Given the description of an element on the screen output the (x, y) to click on. 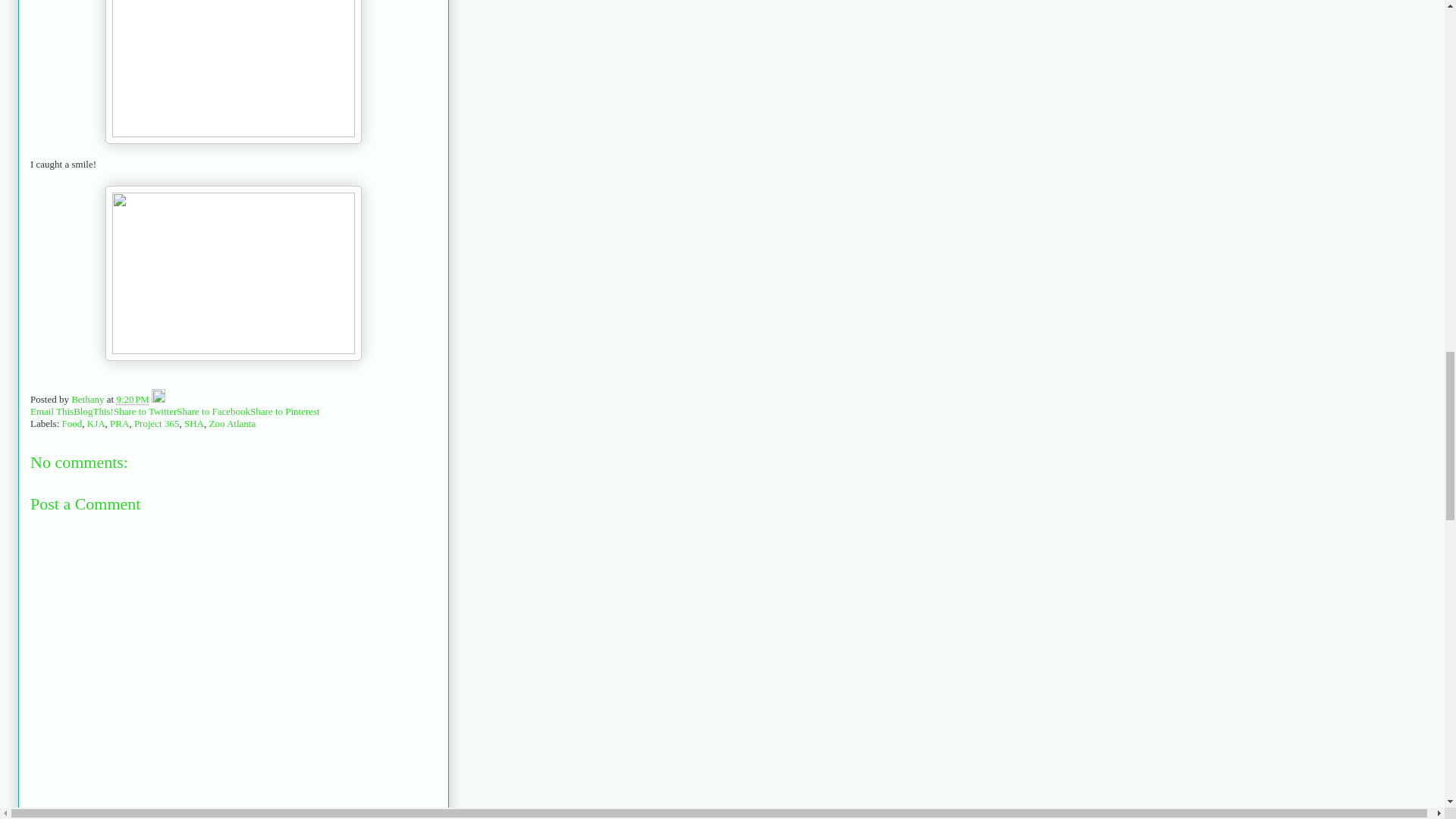
SHA (193, 423)
Share to Facebook (213, 410)
Project 365 (156, 423)
Edit Post (158, 398)
Share to Twitter (144, 410)
PRA (119, 423)
Email This (52, 410)
Bethany (88, 398)
author profile (88, 398)
Share to Pinterest (285, 410)
KJA (95, 423)
Zoo Atlanta (232, 423)
Food (72, 423)
Share to Pinterest (285, 410)
